Given the description of an element on the screen output the (x, y) to click on. 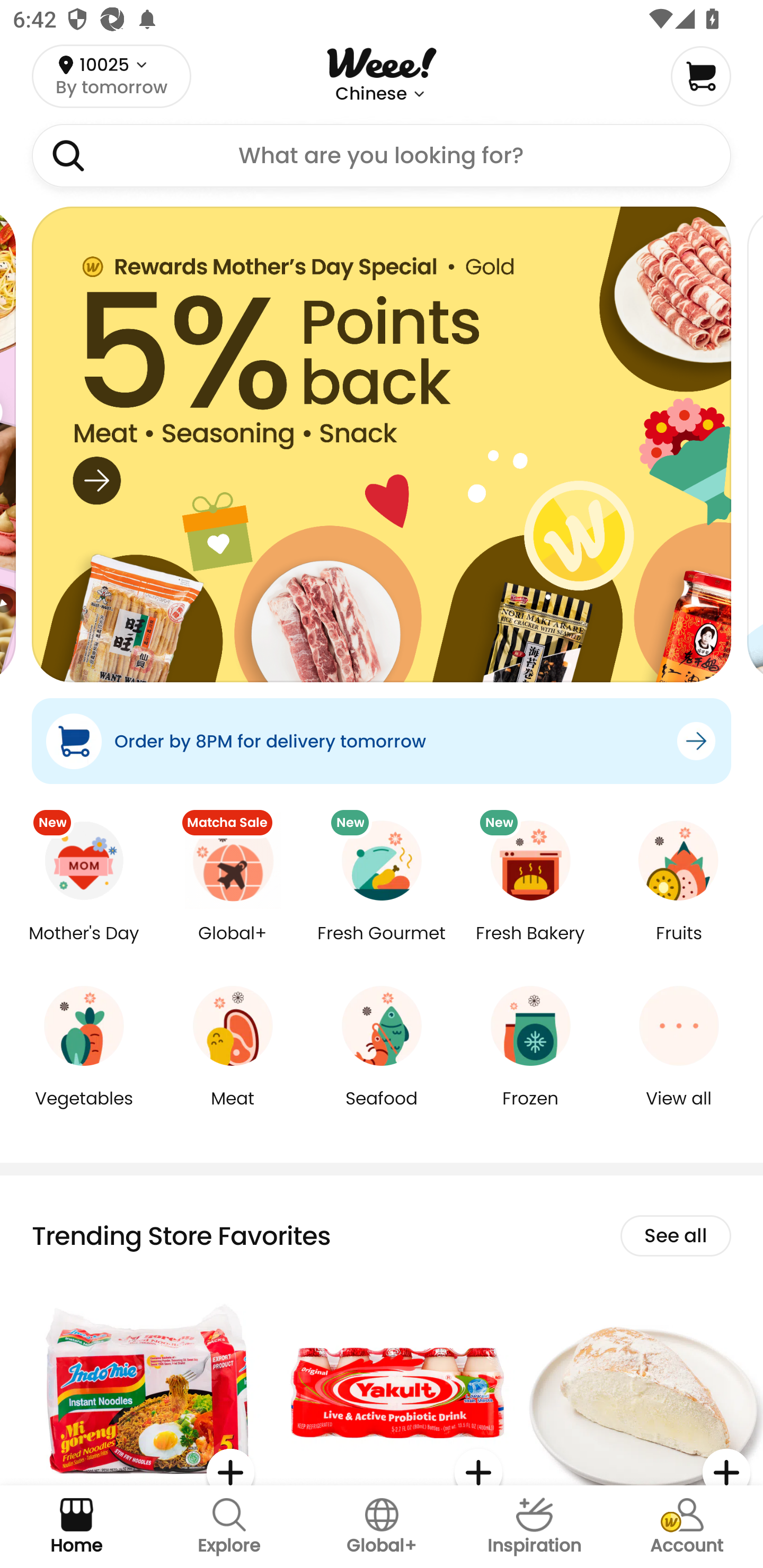
10025 By tomorrow (111, 75)
Chinese (370, 93)
What are you looking for? (381, 155)
Order by 8PM for delivery tomorrow (381, 740)
Mother's Day (83, 946)
Global+ (232, 946)
Fresh Gourmet (381, 946)
Fresh Bakery (530, 946)
Fruits (678, 946)
Vegetables (83, 1111)
Meat (232, 1111)
Seafood (381, 1111)
Frozen (530, 1111)
View all (678, 1111)
Home (76, 1526)
Explore (228, 1526)
Global+ (381, 1526)
Inspiration (533, 1526)
Account (686, 1526)
